Given the description of an element on the screen output the (x, y) to click on. 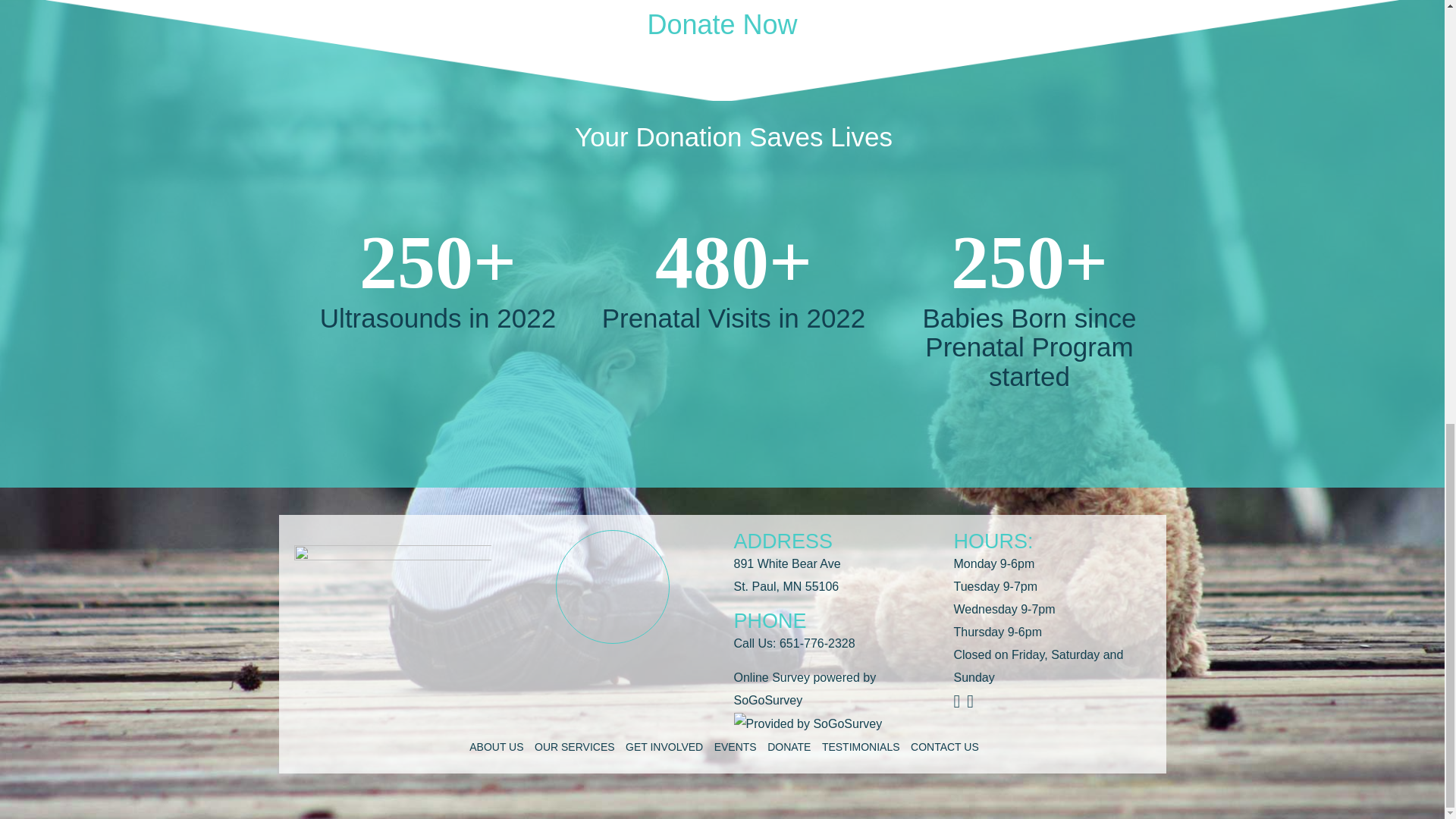
DONATE (788, 746)
GET INVOLVED (664, 746)
Donate Now (721, 24)
EVENTS (735, 746)
CONTACT US (944, 746)
Online Survey (771, 676)
ABOUT US (495, 746)
651-776-2328 (817, 643)
TESTIMONIALS (860, 746)
OUR SERVICES (574, 746)
